Given the description of an element on the screen output the (x, y) to click on. 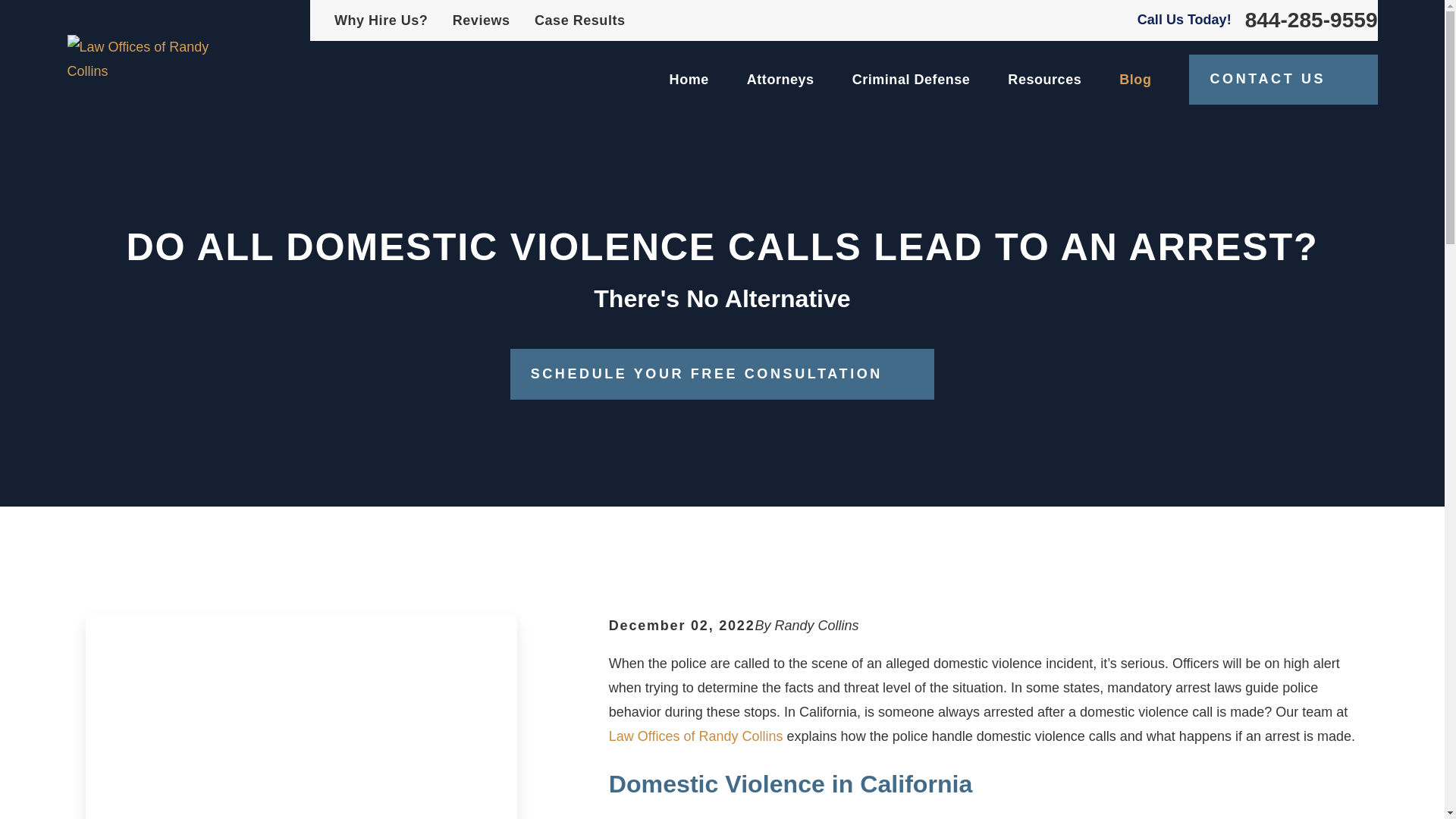
Resources (1044, 79)
Home (689, 79)
Home (142, 59)
844-285-9559 (1310, 20)
Reviews (481, 20)
Attorneys (779, 79)
Why Hire Us? (381, 20)
Criminal Defense (911, 79)
Case Results (580, 20)
